Given the description of an element on the screen output the (x, y) to click on. 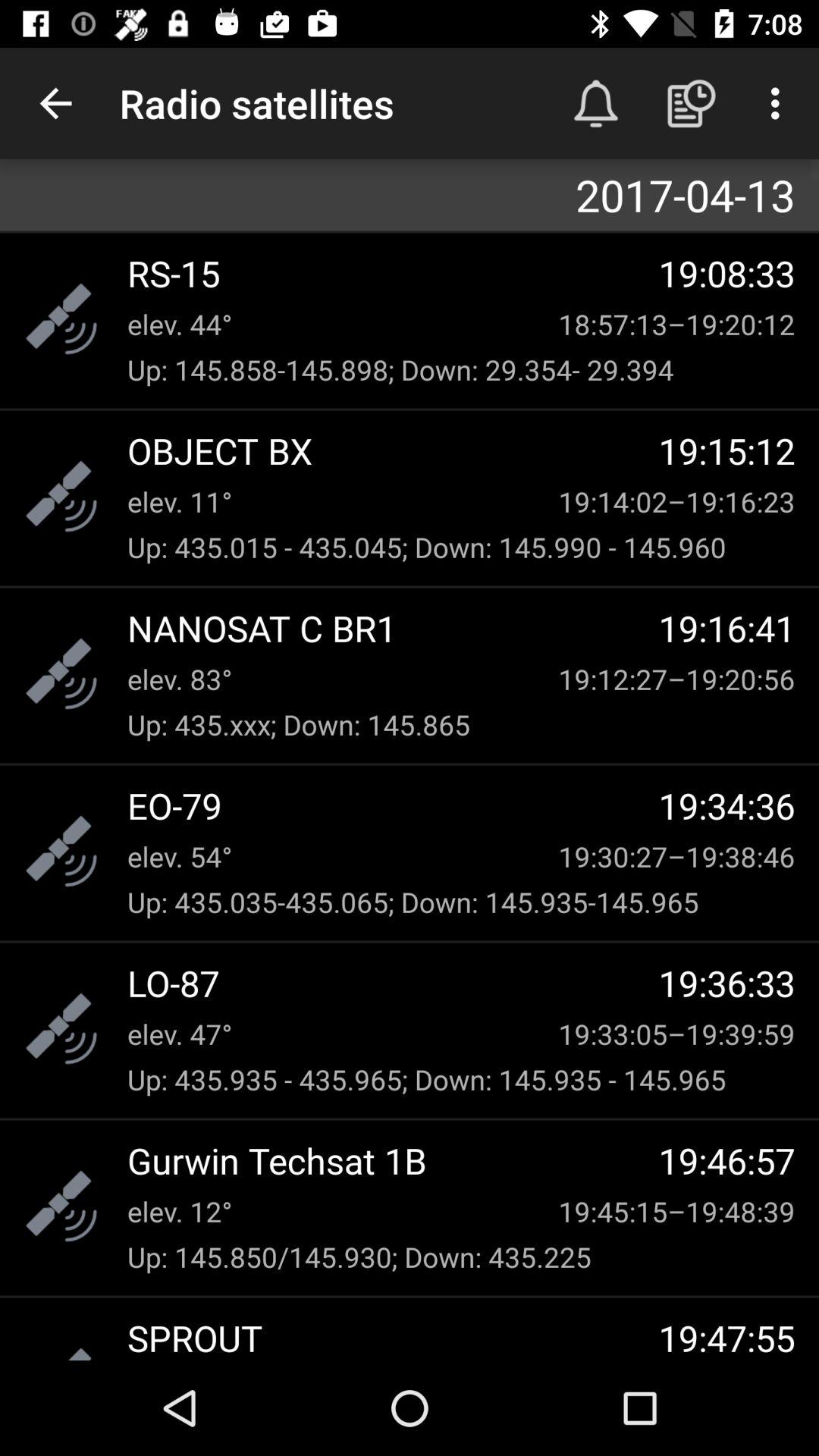
select icon above the 2017-04-13 (55, 103)
